Given the description of an element on the screen output the (x, y) to click on. 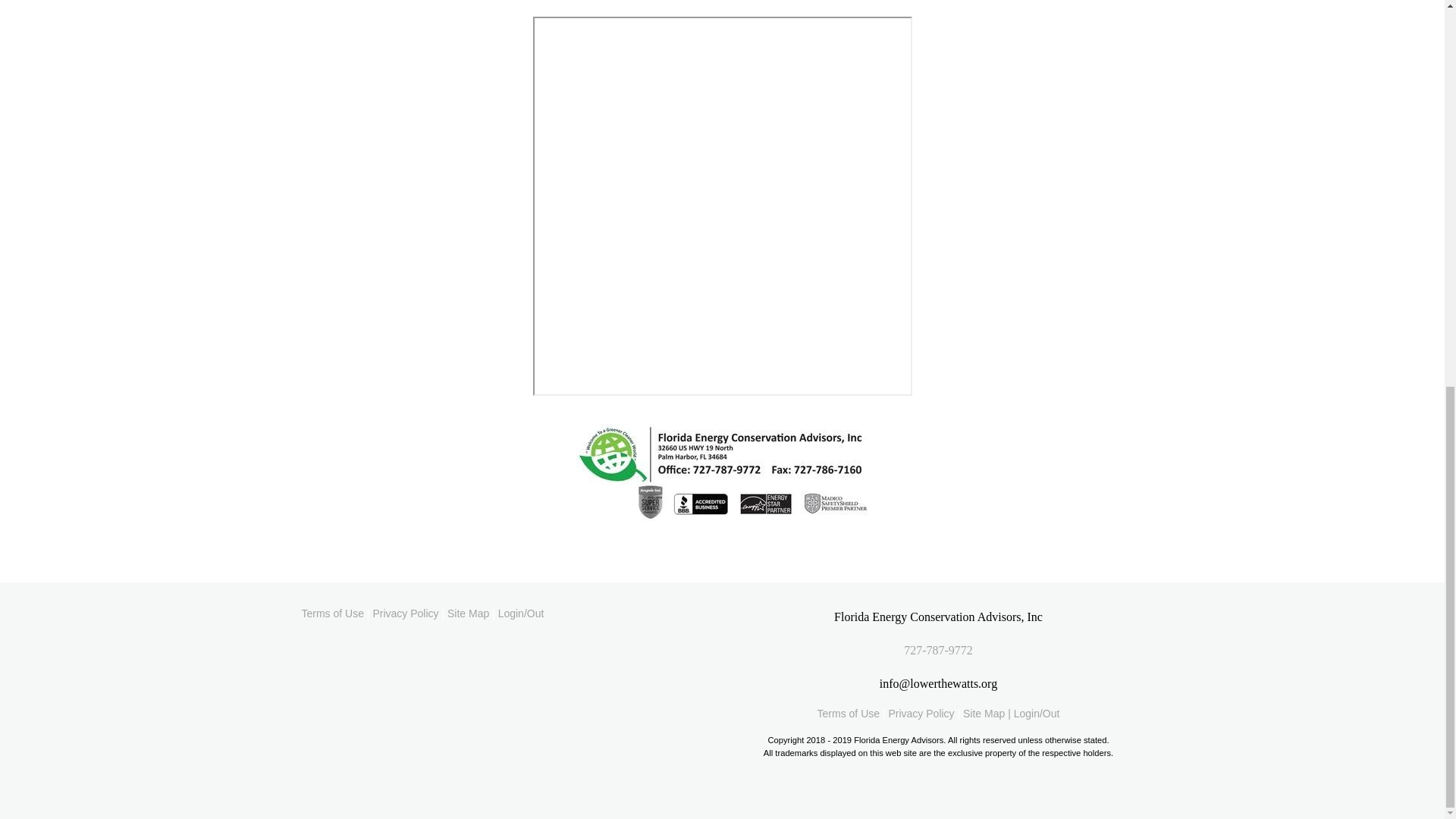
Privacy Policy (405, 613)
727-787-9772 (938, 649)
Site Map (467, 613)
Privacy Policy (920, 713)
Terms of Use (847, 713)
Terms of Use (332, 613)
